Given the description of an element on the screen output the (x, y) to click on. 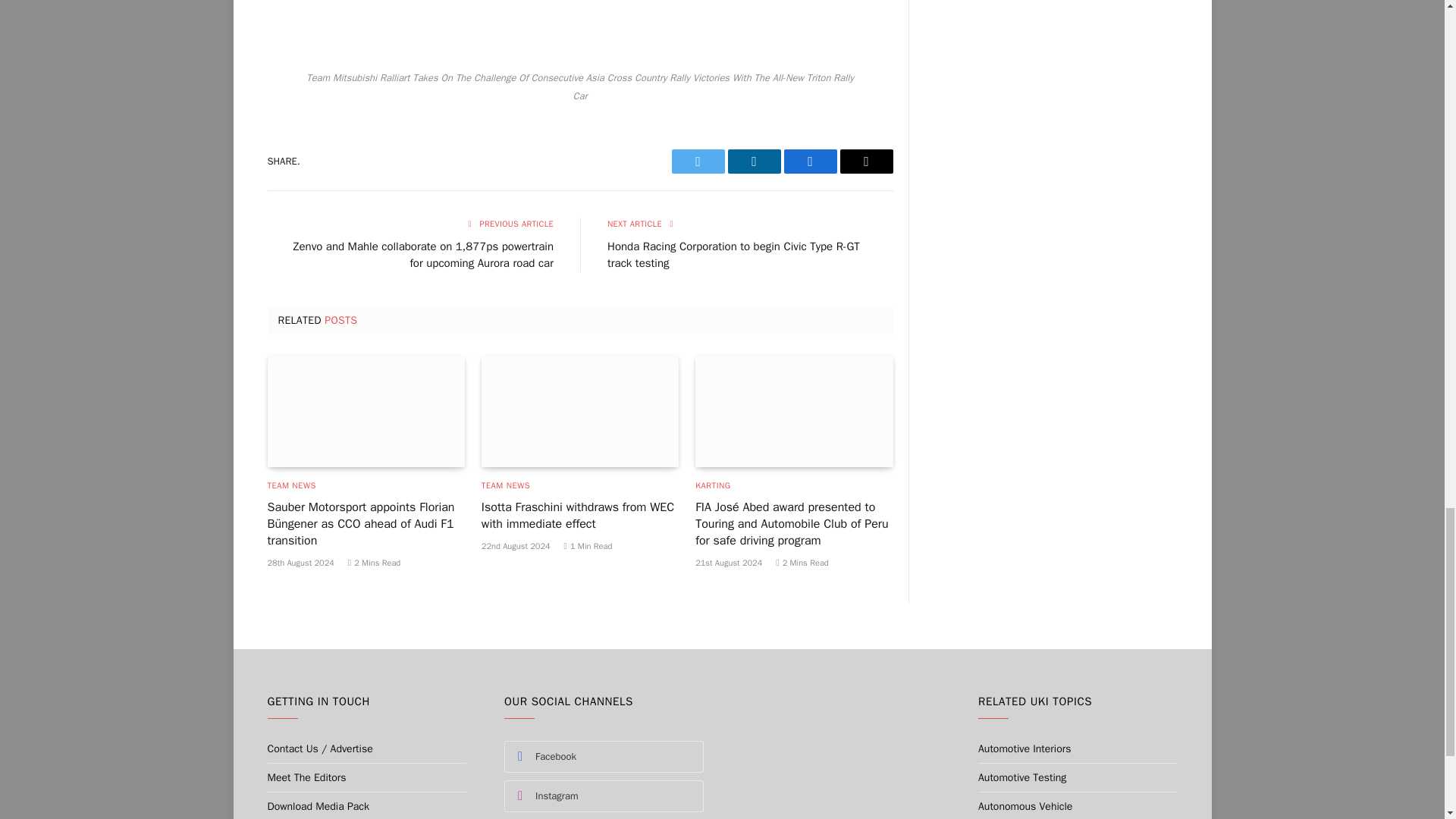
Share on LinkedIn (754, 161)
Share on Twitter (698, 161)
Share via Email (866, 161)
Share on Facebook (810, 161)
